Given the description of an element on the screen output the (x, y) to click on. 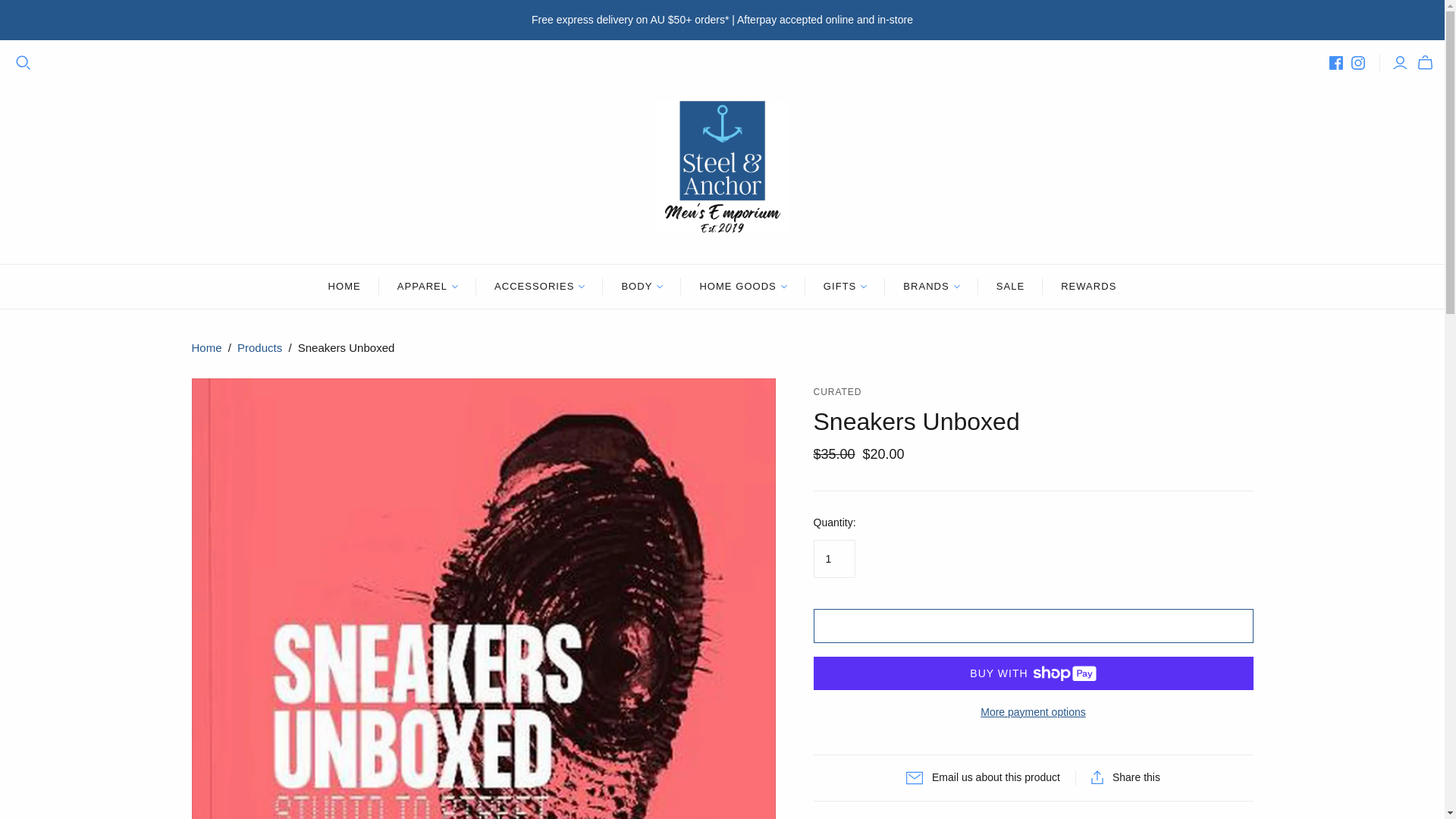
APPAREL (427, 286)
1 (833, 558)
HOME (344, 286)
ACCESSORIES (539, 286)
